Given the description of an element on the screen output the (x, y) to click on. 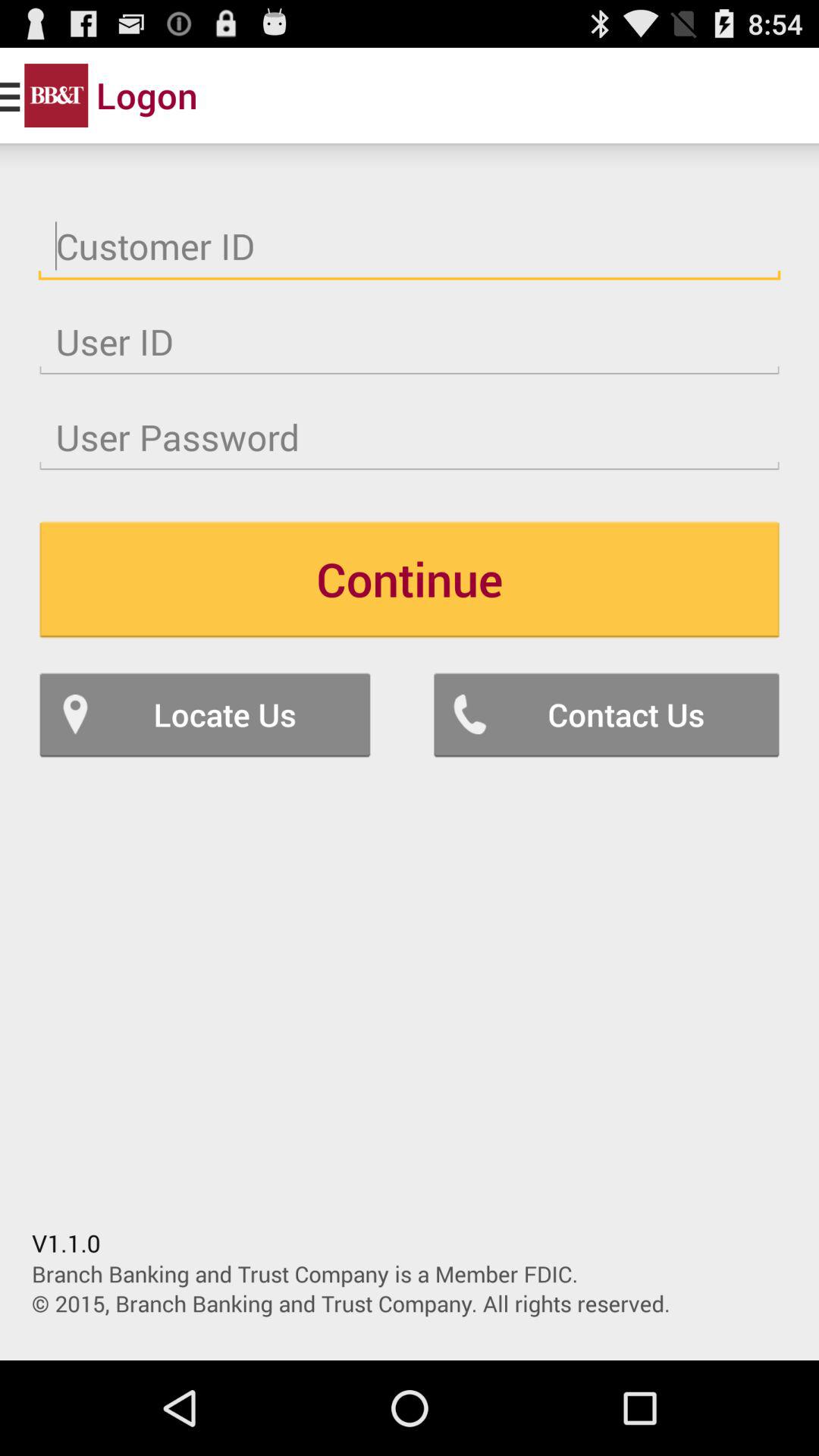
press the locate us (204, 714)
